Given the description of an element on the screen output the (x, y) to click on. 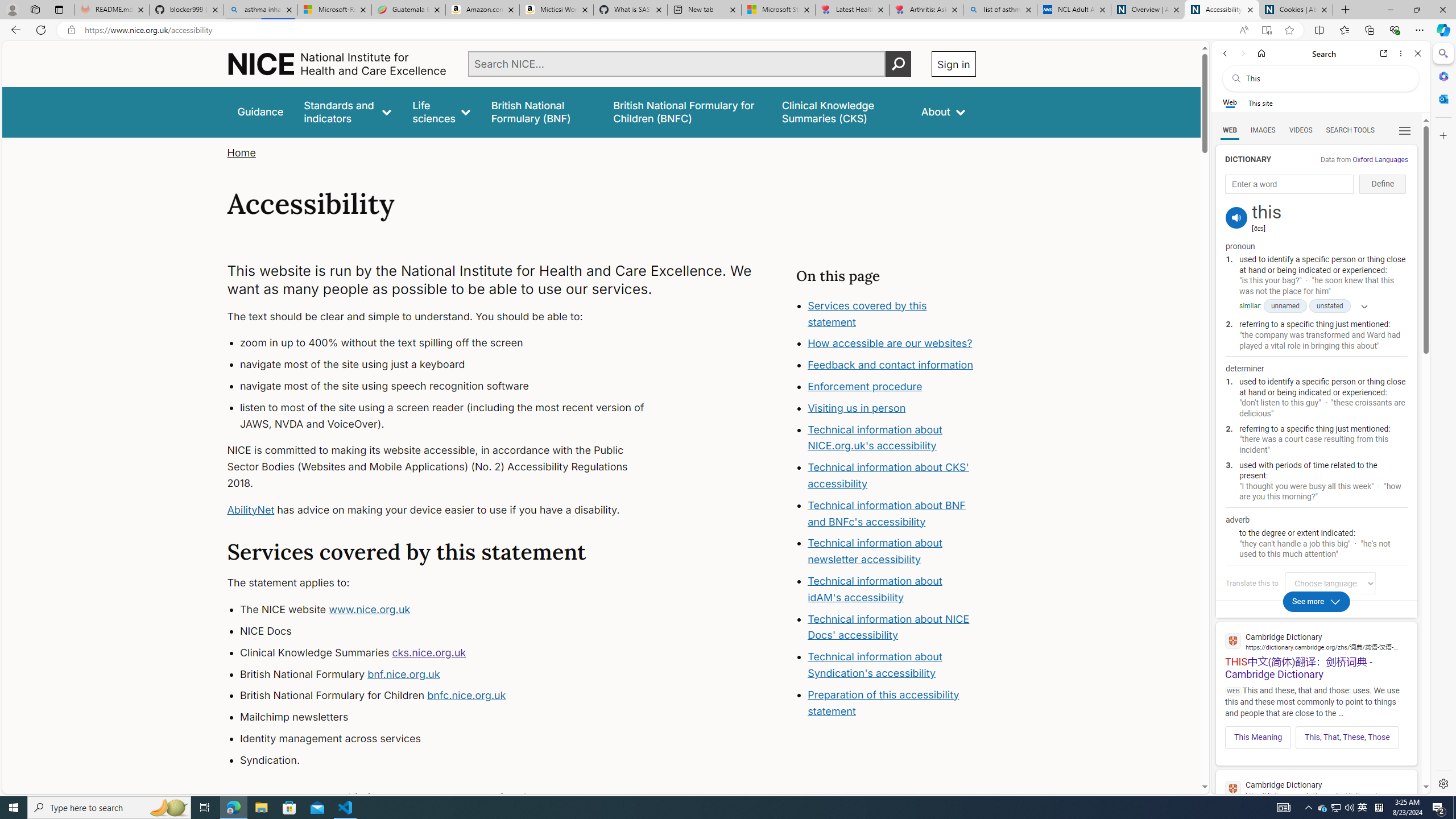
navigate most of the site using speech recognition software (452, 385)
Technical information about CKS' accessibility (888, 475)
unnamed (1285, 305)
How accessible are our websites? (890, 343)
